Given the description of an element on the screen output the (x, y) to click on. 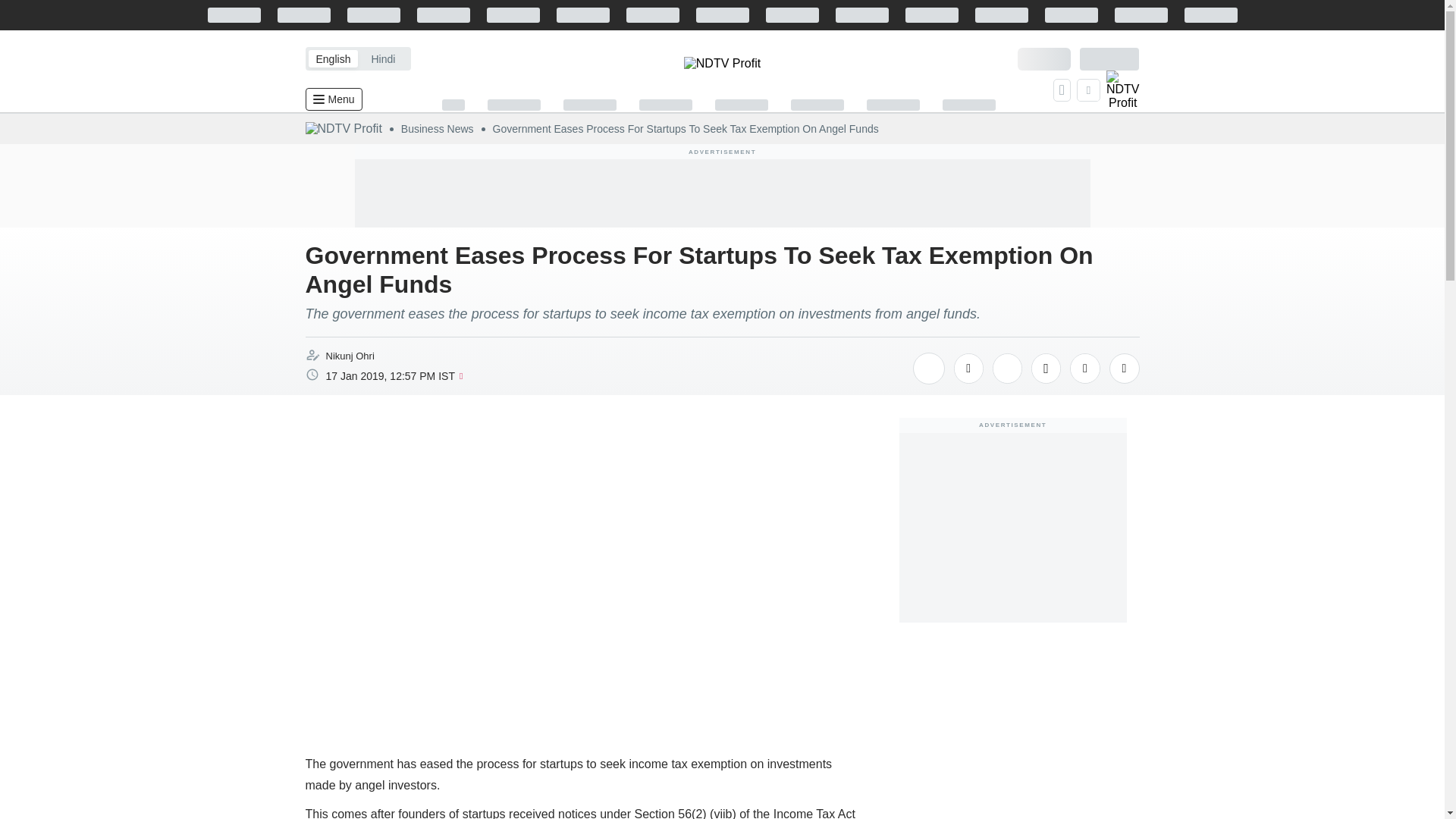
Hindi (382, 58)
Menu (332, 98)
English (332, 58)
Live TV (1123, 90)
Hindi (382, 58)
